Given the description of an element on the screen output the (x, y) to click on. 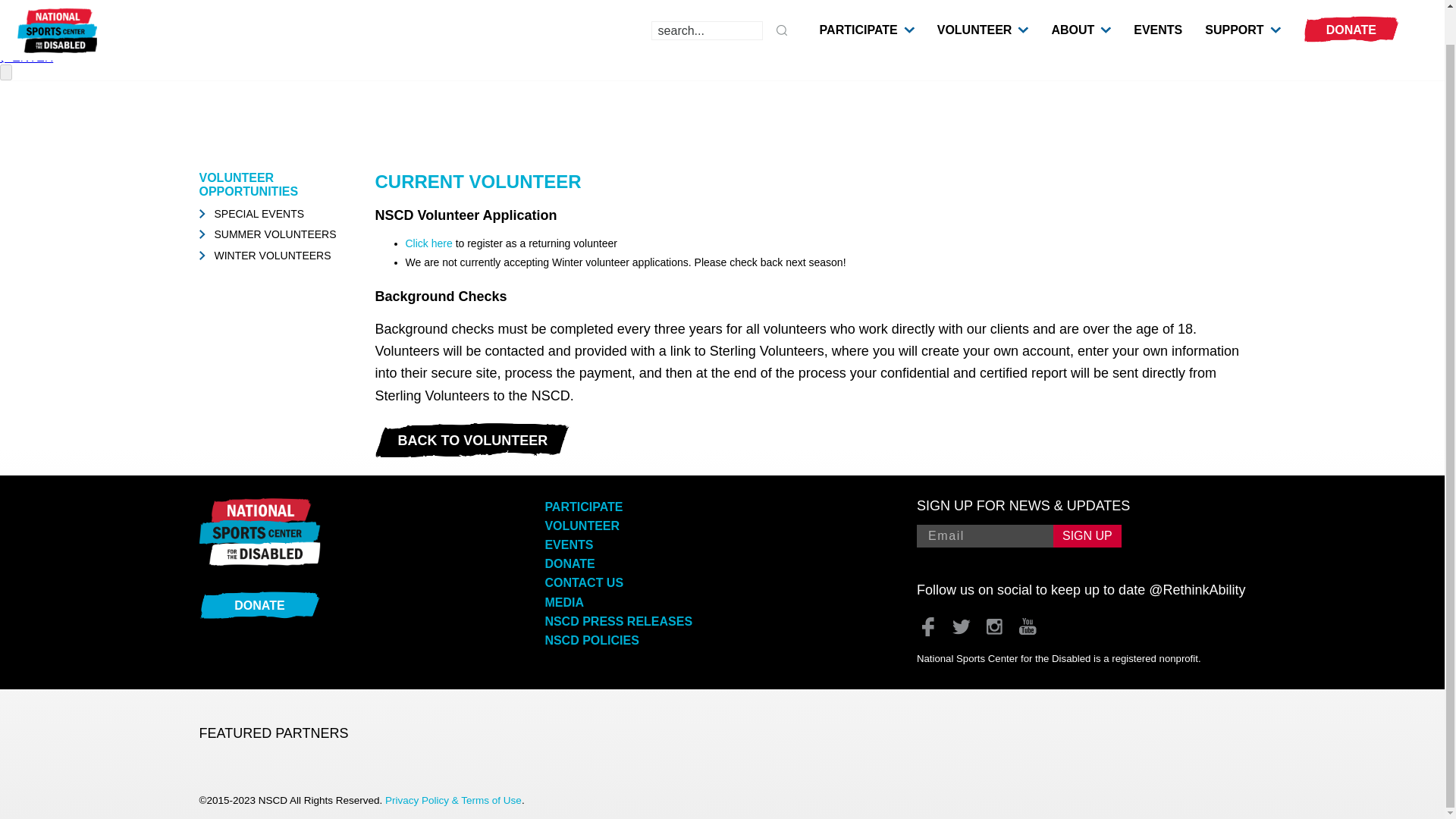
DONATE (1351, 4)
EVENTS (1158, 0)
Sign Up (1086, 535)
ABOUT (1072, 0)
SUPPORT (1234, 0)
